Given the description of an element on the screen output the (x, y) to click on. 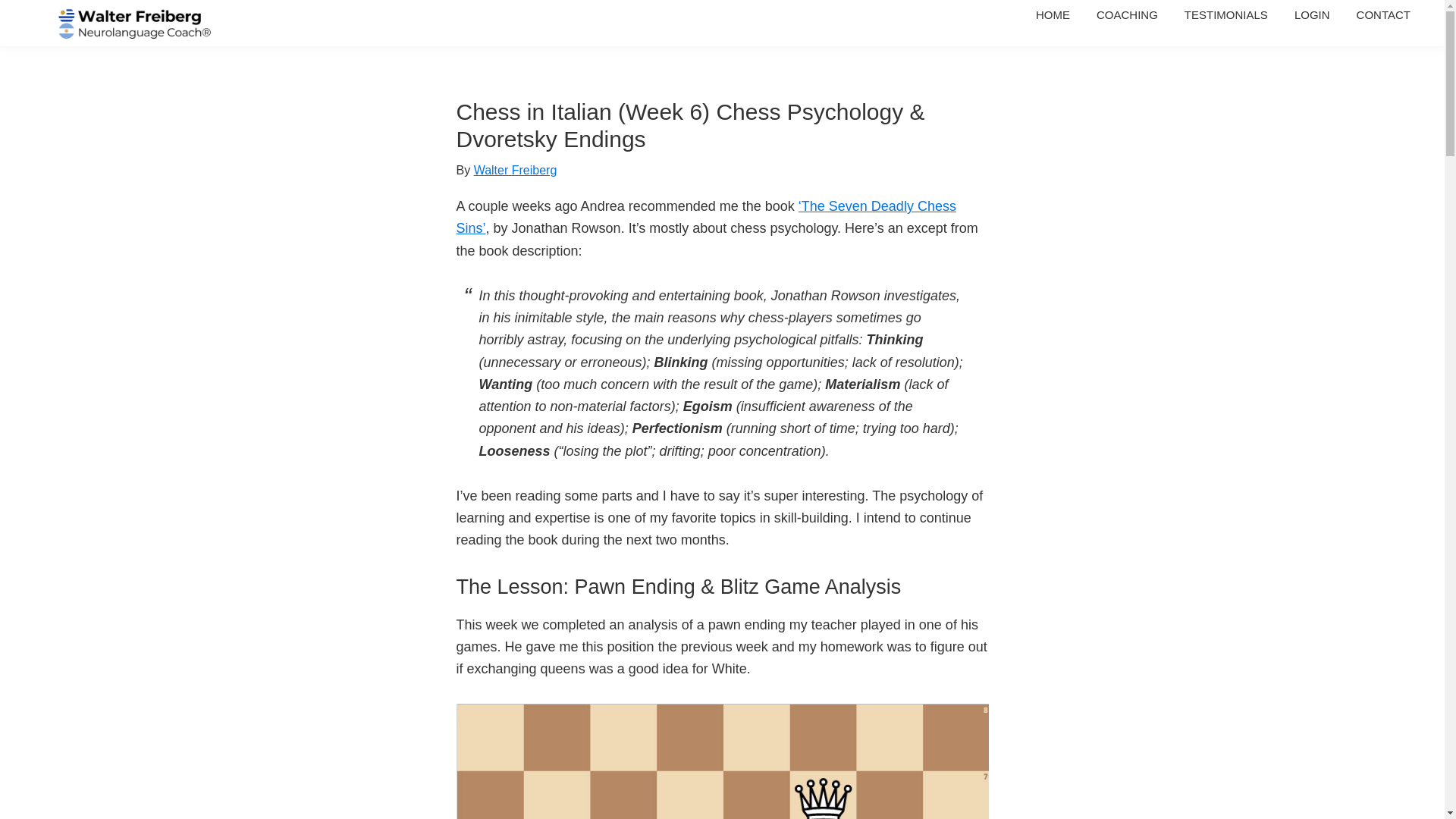
Walter Freiberg (52, 57)
HOME (1053, 14)
COACHING (1126, 14)
TESTIMONIALS (1226, 14)
LOGIN (1311, 14)
Walter Freiberg (515, 169)
CONTACT (1383, 14)
